Given the description of an element on the screen output the (x, y) to click on. 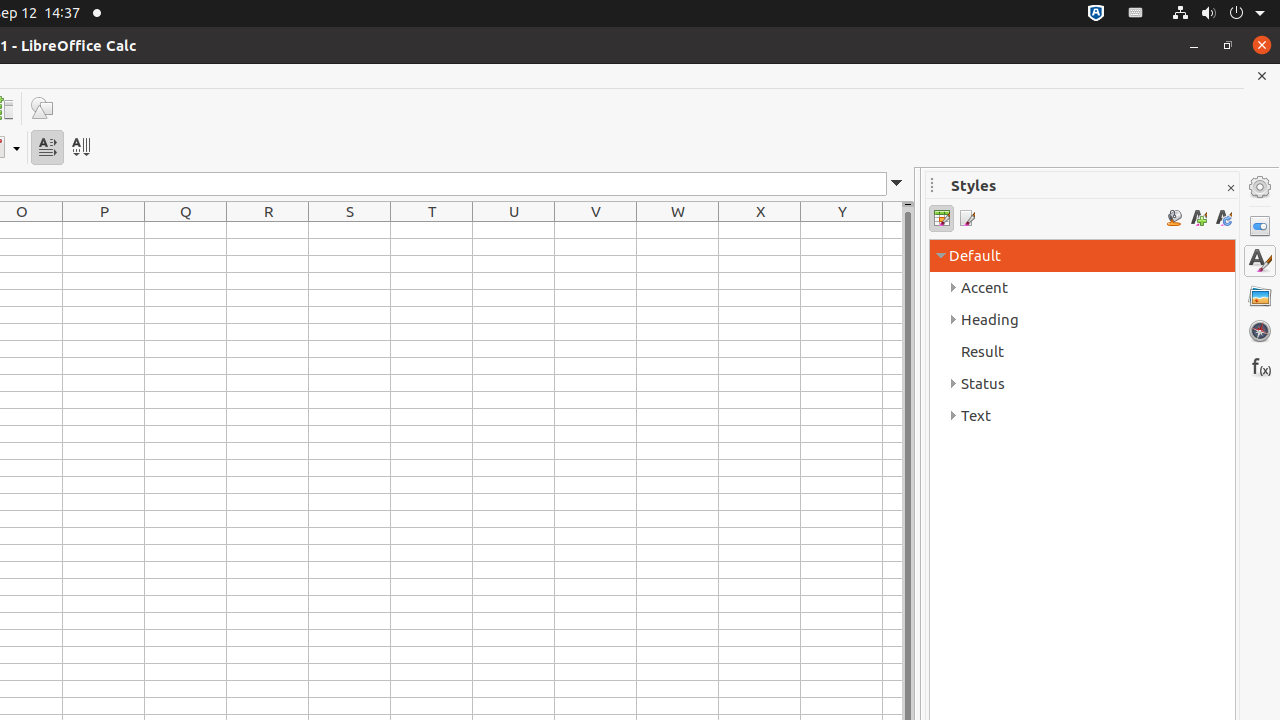
Properties Element type: radio-button (1260, 226)
Close Sidebar Deck Element type: push-button (1230, 188)
Styles Element type: radio-button (1260, 261)
Draw Functions Element type: toggle-button (41, 108)
Update Style Element type: push-button (1223, 218)
